Given the description of an element on the screen output the (x, y) to click on. 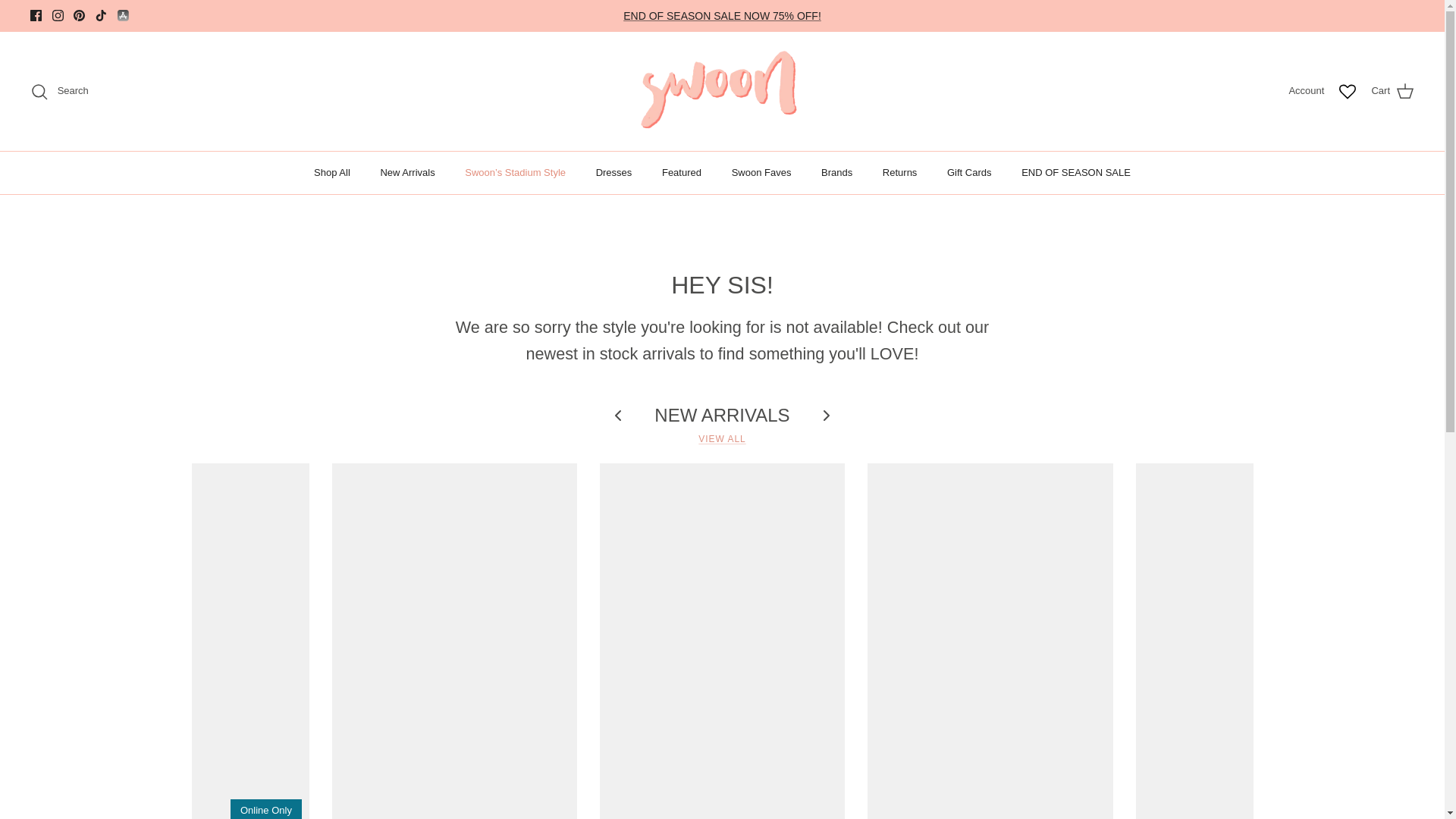
Facebook (36, 15)
Account (1305, 91)
Pinterest (79, 15)
Shop All (331, 172)
Cart (1392, 91)
Pinterest (79, 15)
Facebook (36, 15)
Swoon Boutique New Orleans (722, 90)
Instagram (58, 15)
SALE (722, 15)
